Given the description of an element on the screen output the (x, y) to click on. 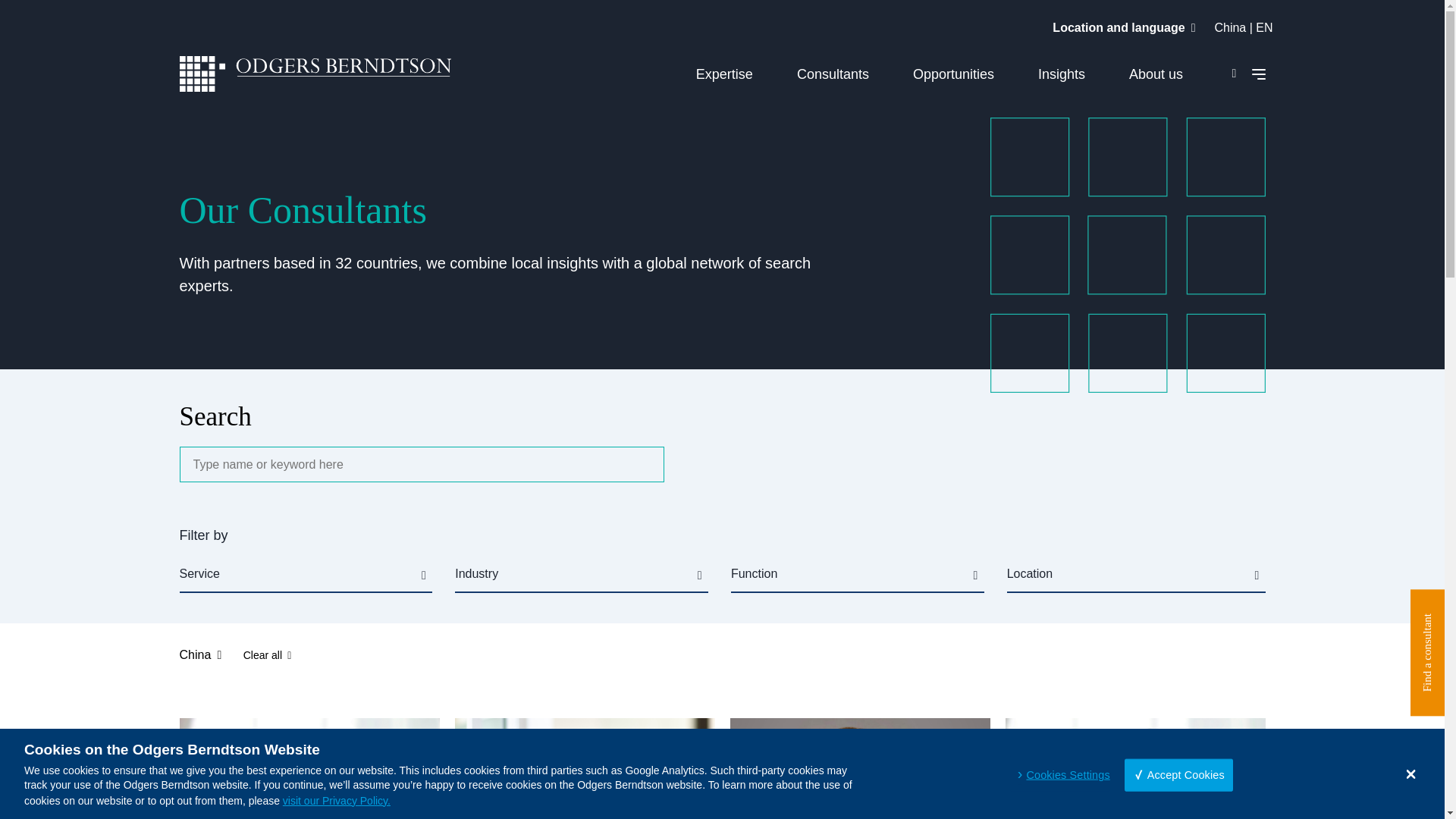
Odgers berndtson (314, 75)
Expertise (724, 74)
Expertise (724, 74)
